Given the description of an element on the screen output the (x, y) to click on. 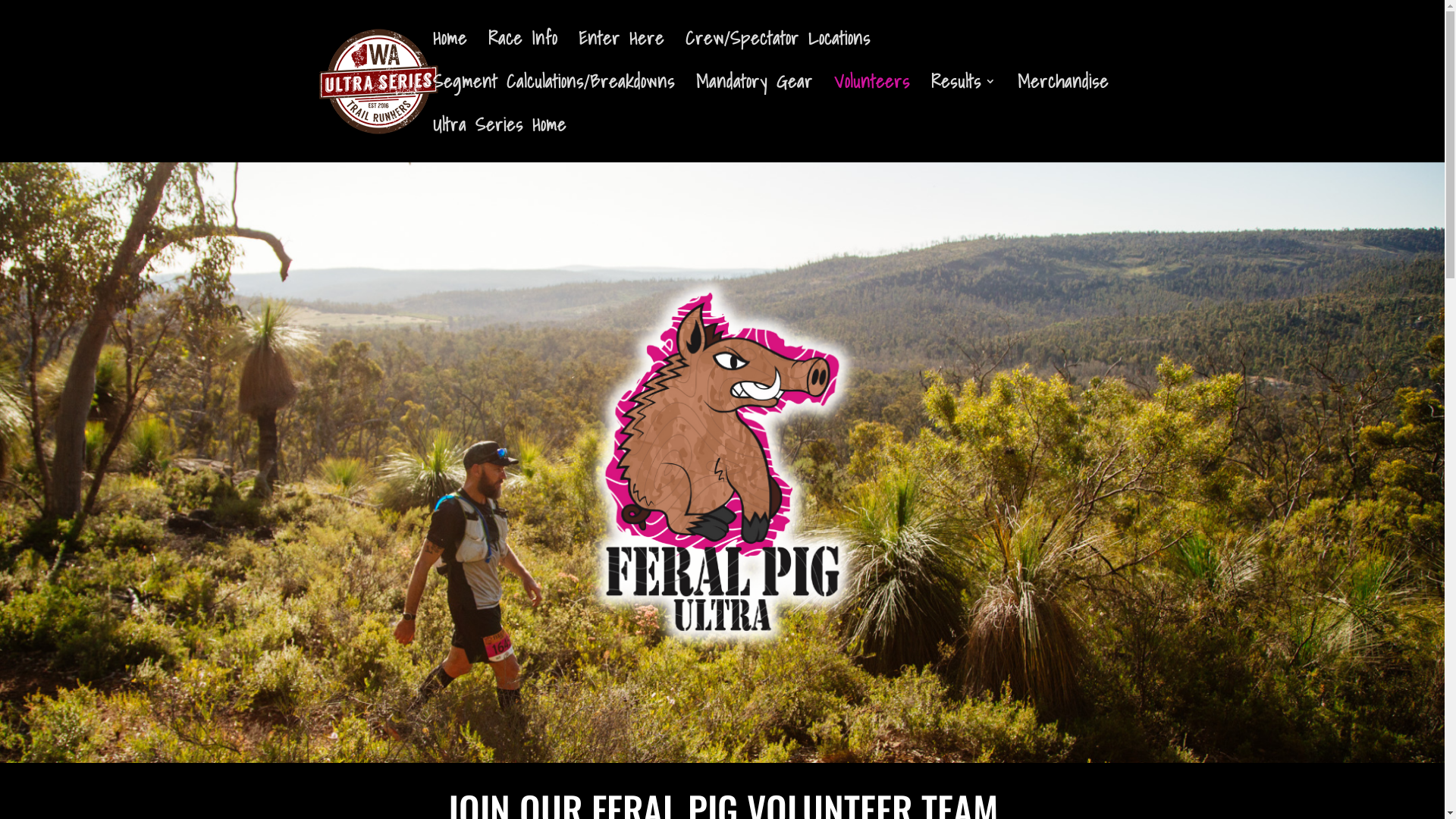
Segment Calculations/Breakdowns Element type: text (553, 97)
Mandatory Gear Element type: text (754, 97)
Race Info Element type: text (522, 53)
Volunteers Element type: text (872, 97)
Crew/Spectator Locations Element type: text (777, 53)
Enter Here Element type: text (620, 53)
Home Element type: text (449, 53)
Merchandise Element type: text (1062, 97)
Ultra Series Home Element type: text (498, 140)
Results Element type: text (963, 97)
